Given the description of an element on the screen output the (x, y) to click on. 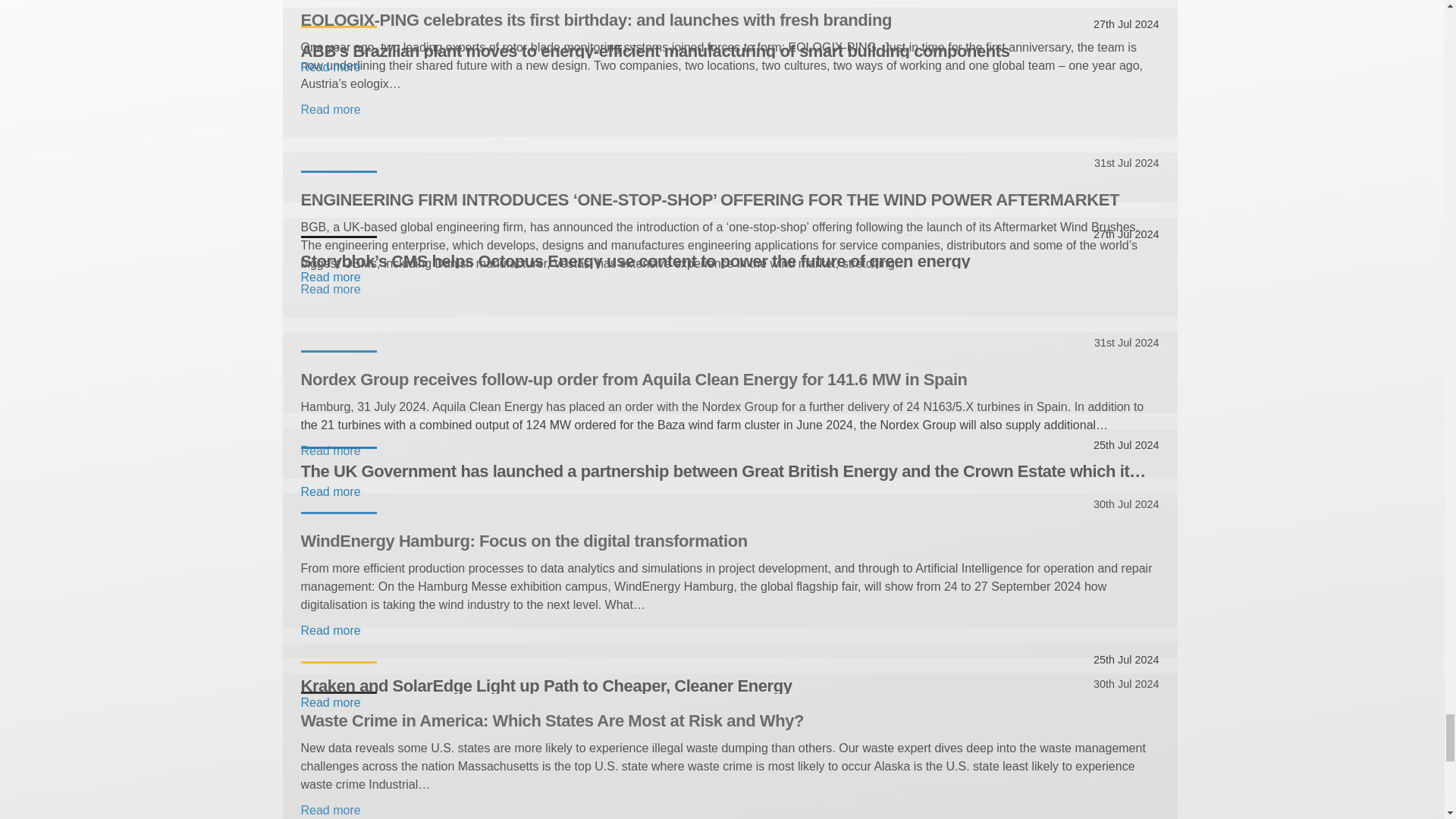
WindEnergy Hamburg: Focus on the digital transformation (728, 540)
